Given the description of an element on the screen output the (x, y) to click on. 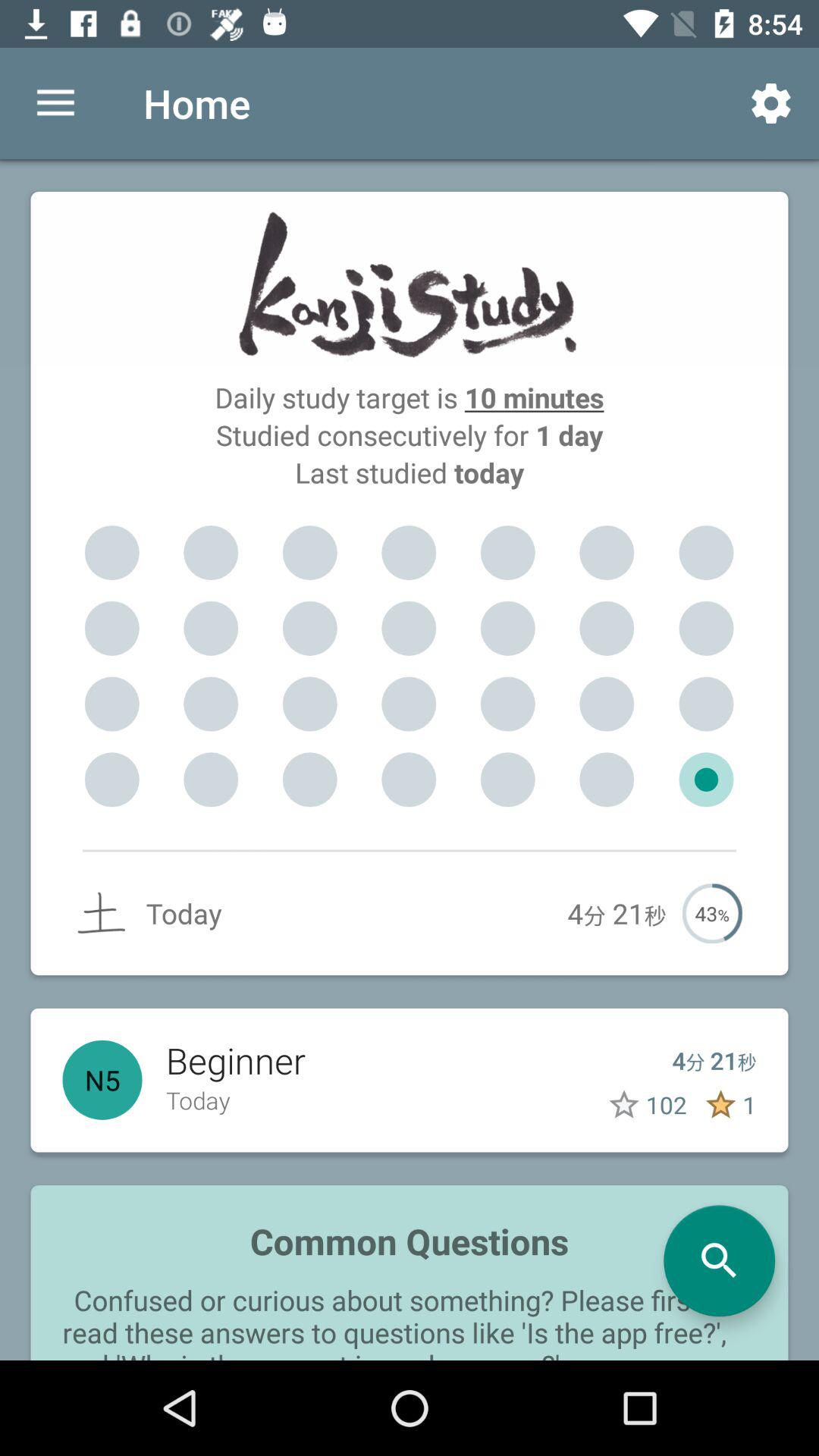
open the item to the left of the home item (55, 103)
